Given the description of an element on the screen output the (x, y) to click on. 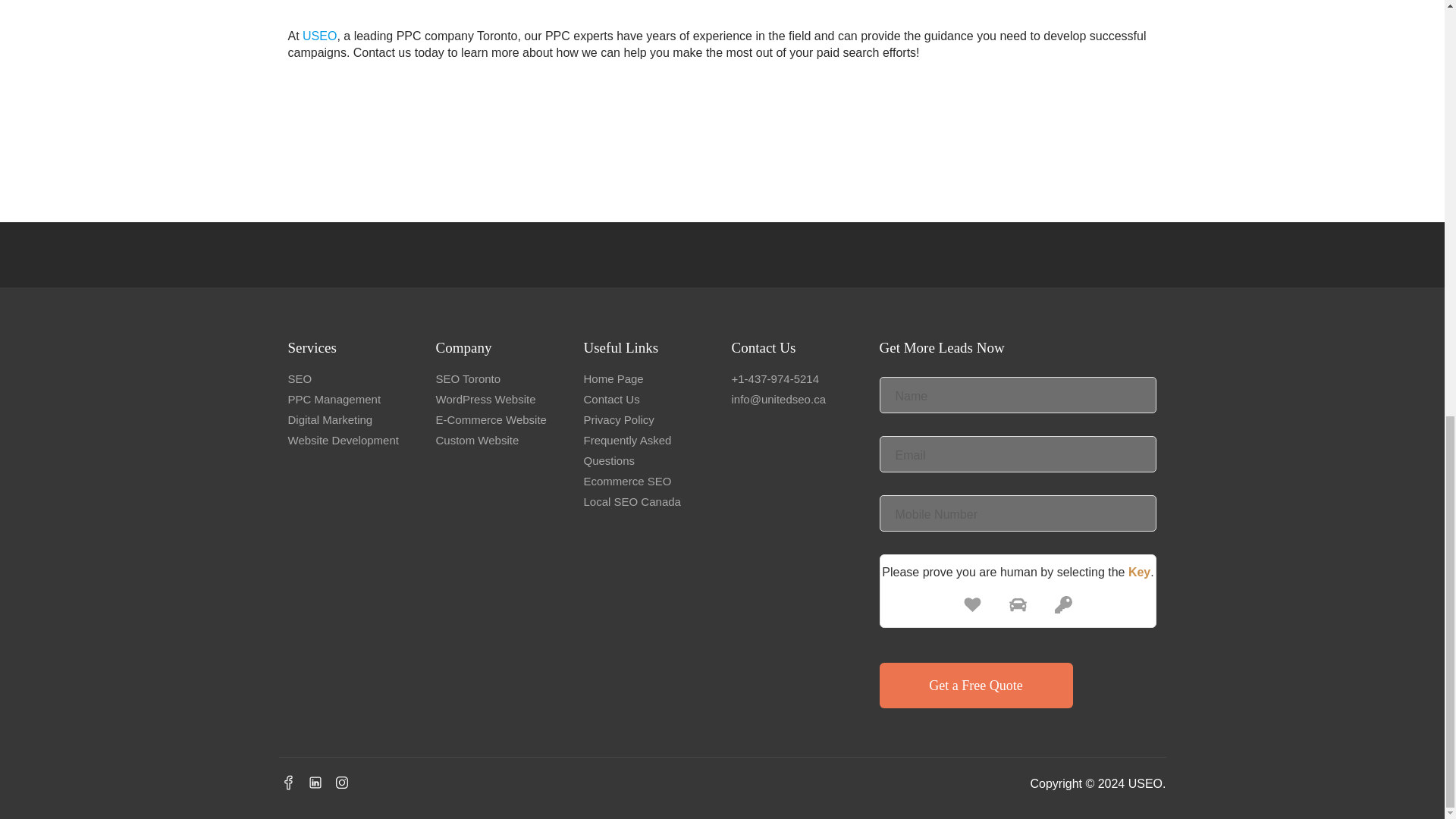
Get a Free Quote (976, 685)
